Given the description of an element on the screen output the (x, y) to click on. 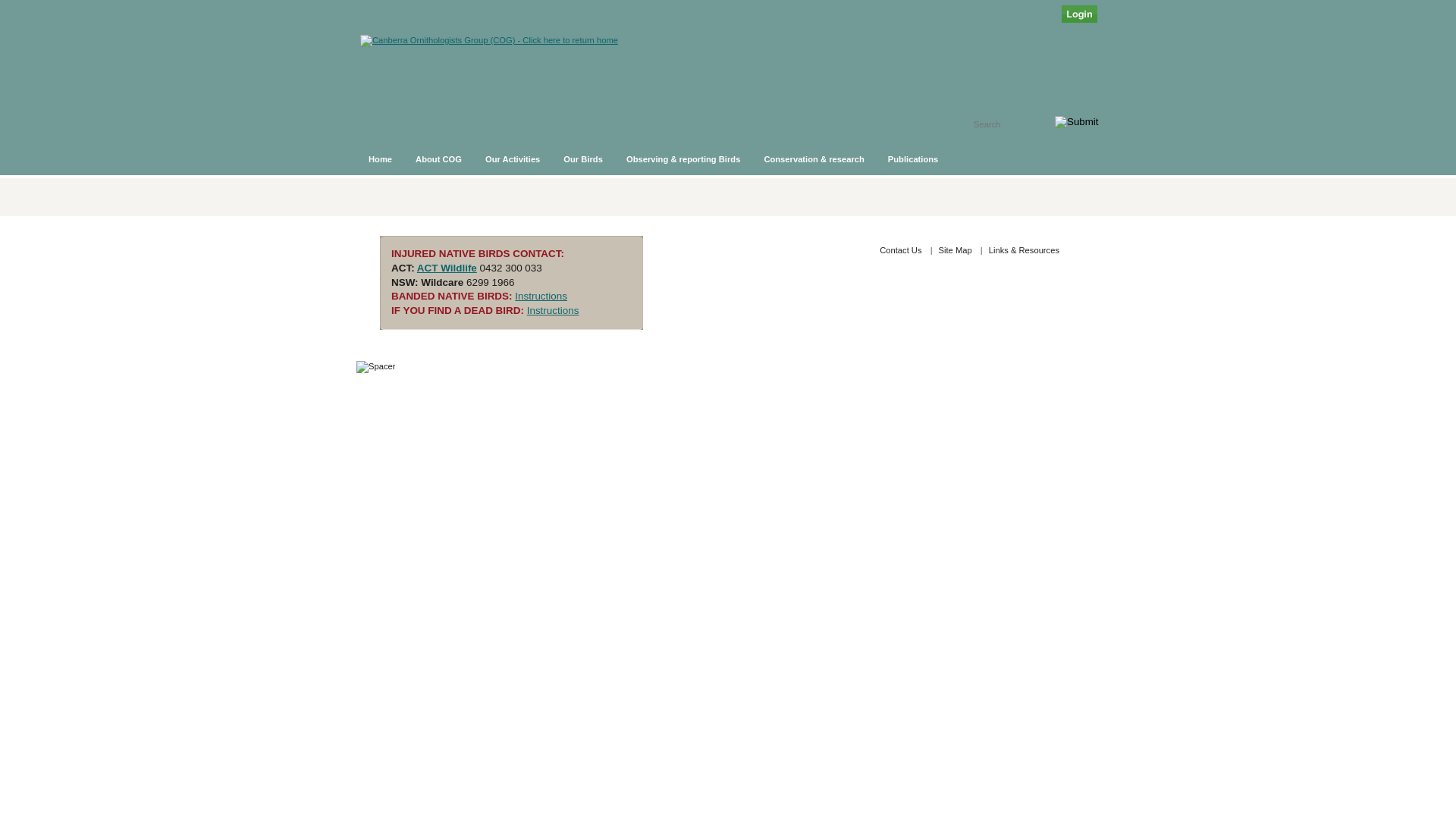
Contact Us Element type: text (900, 249)
Our Activities Element type: text (512, 159)
Site Map Element type: text (955, 249)
Observing & reporting Birds Element type: text (683, 159)
Instructions Element type: text (540, 295)
Links & Resources Element type: text (1023, 249)
ACT Wildlife Element type: text (446, 267)
Home Element type: text (380, 159)
Our Birds Element type: text (583, 159)
Instructions Element type: text (553, 310)
Publications Element type: text (913, 159)
Conservation & research Element type: text (813, 159)
About COG Element type: text (438, 159)
